Given the description of an element on the screen output the (x, y) to click on. 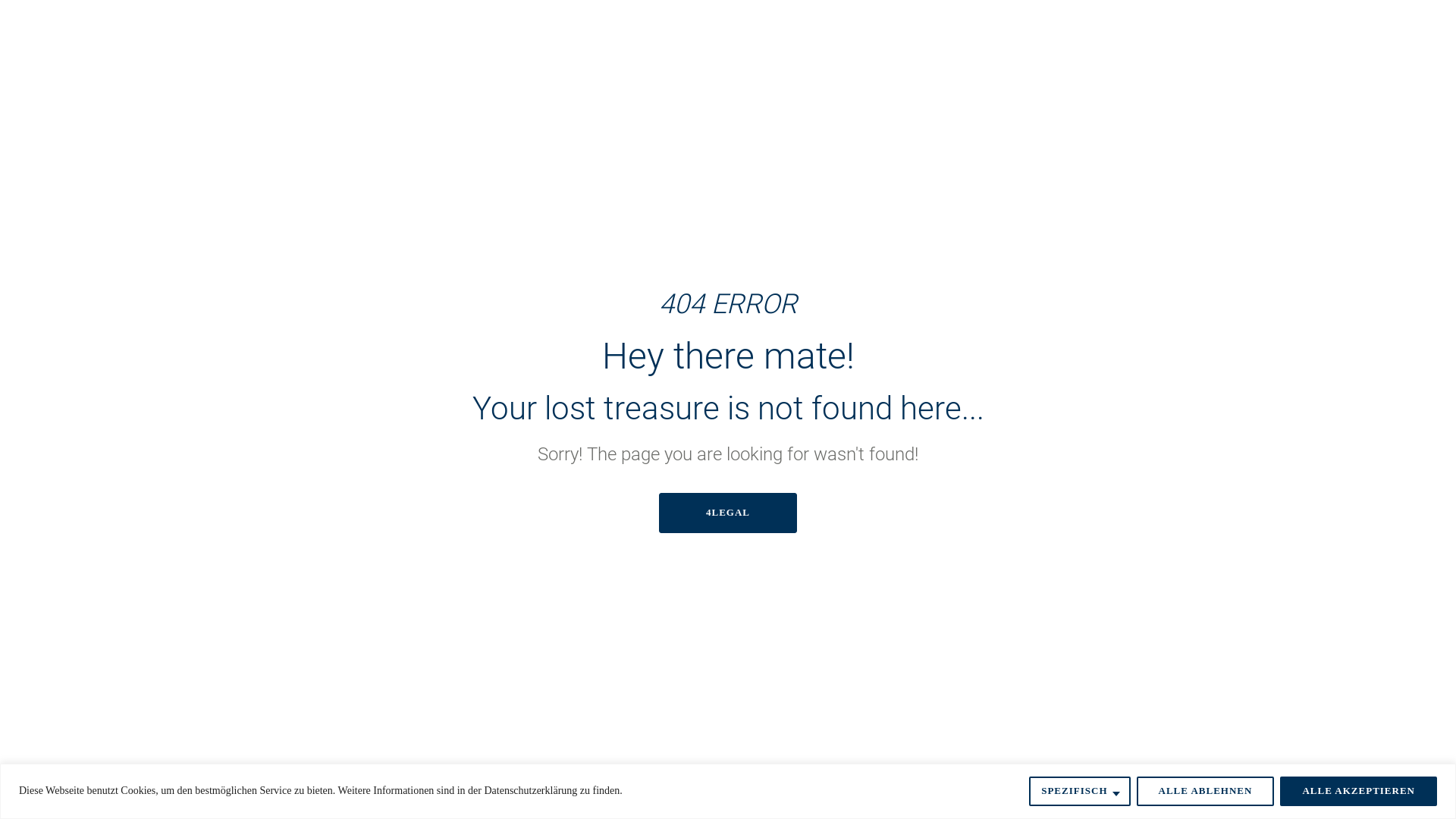
ALLE ABLEHNEN Element type: text (1205, 790)
4LEGAL Element type: text (727, 512)
SPEZIFISCH Element type: text (1079, 790)
ALLE AKZEPTIEREN Element type: text (1358, 790)
